Given the description of an element on the screen output the (x, y) to click on. 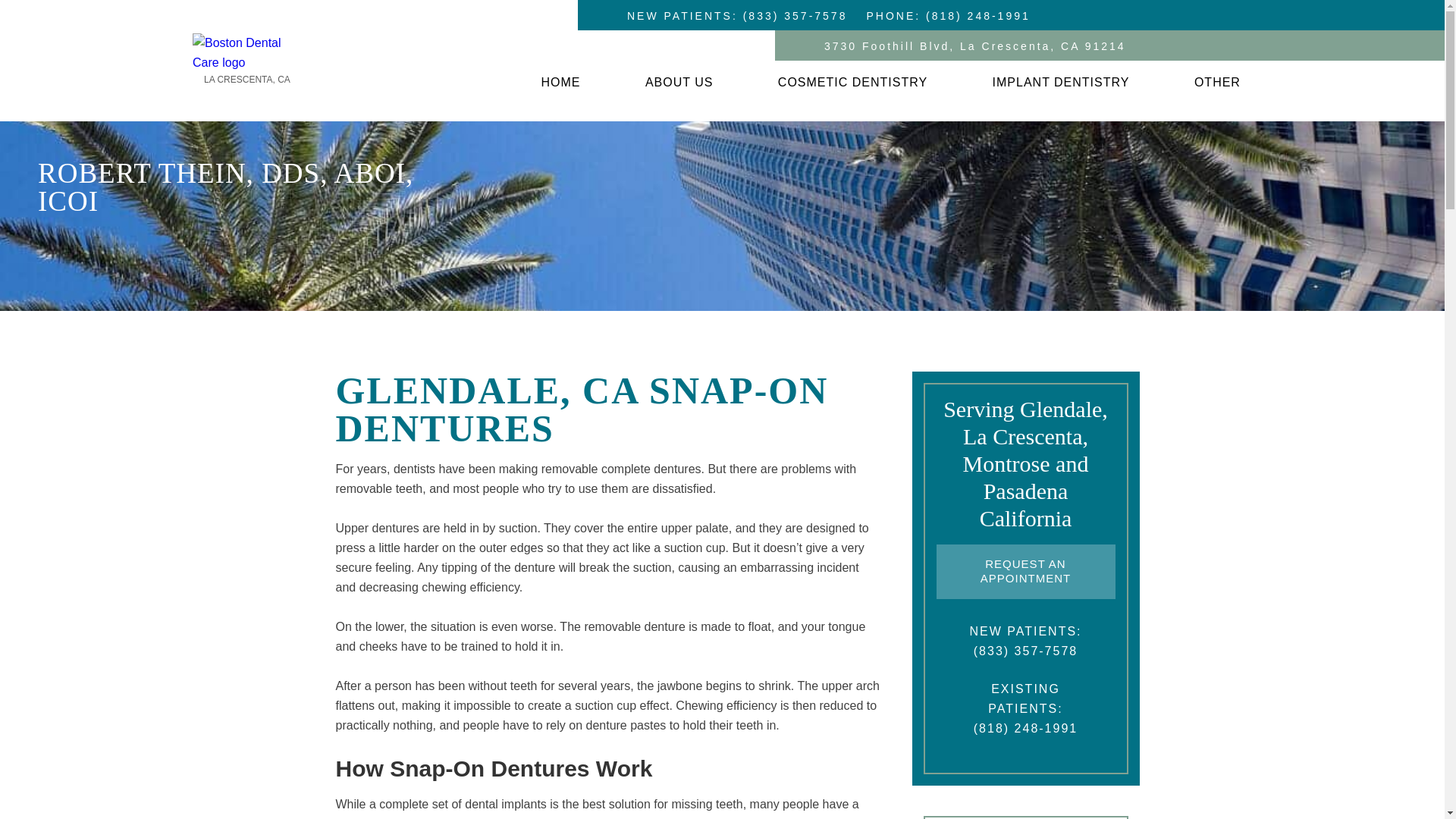
IMPLANT DENTISTRY (1061, 82)
COSMETIC DENTISTRY (853, 82)
ABOUT US (679, 82)
HOME (560, 82)
